Given the description of an element on the screen output the (x, y) to click on. 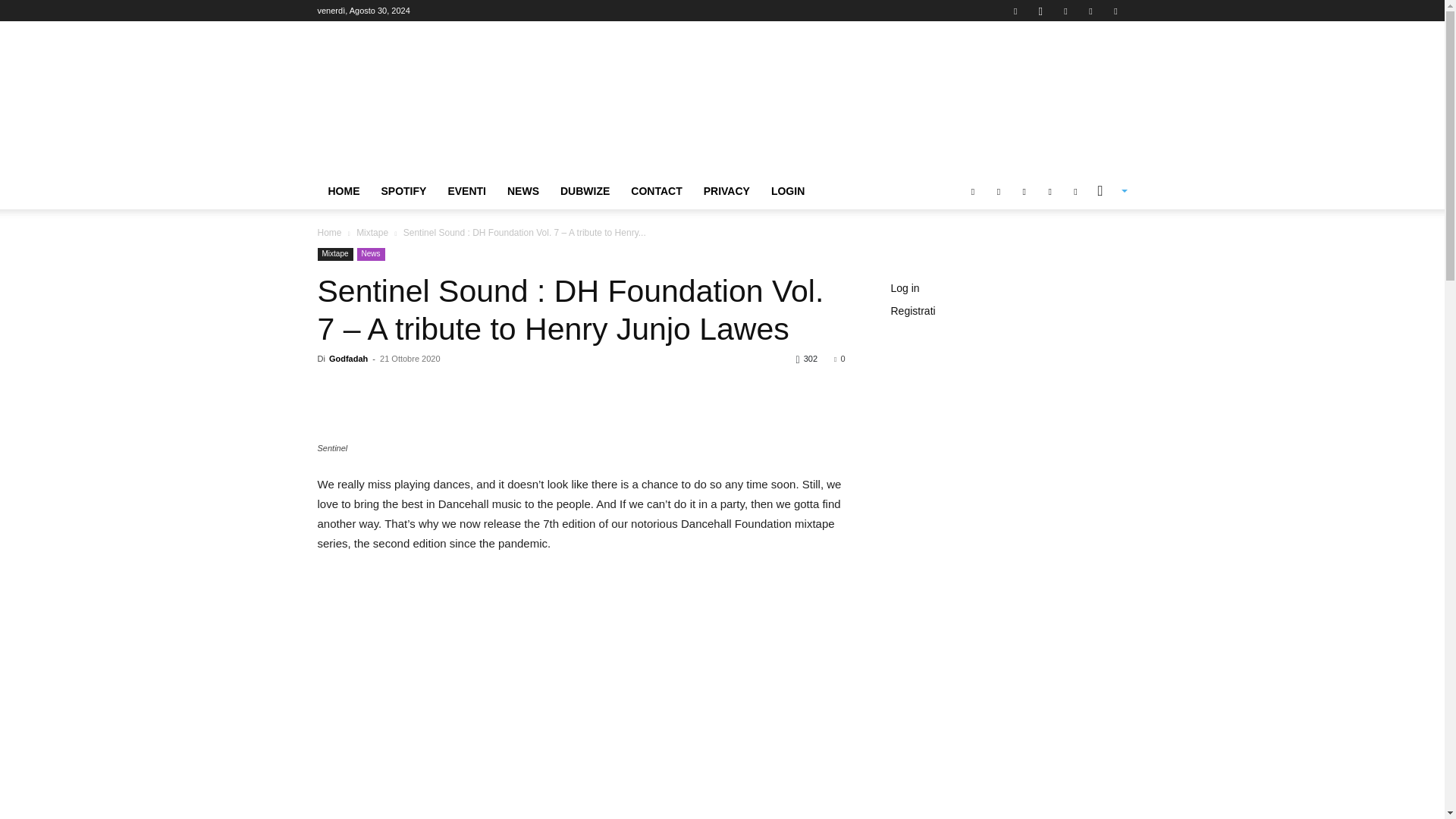
Instagram (1040, 10)
Youtube (1114, 10)
Spotify (1065, 10)
Twitter (1090, 10)
Facebook (1015, 10)
